Given the description of an element on the screen output the (x, y) to click on. 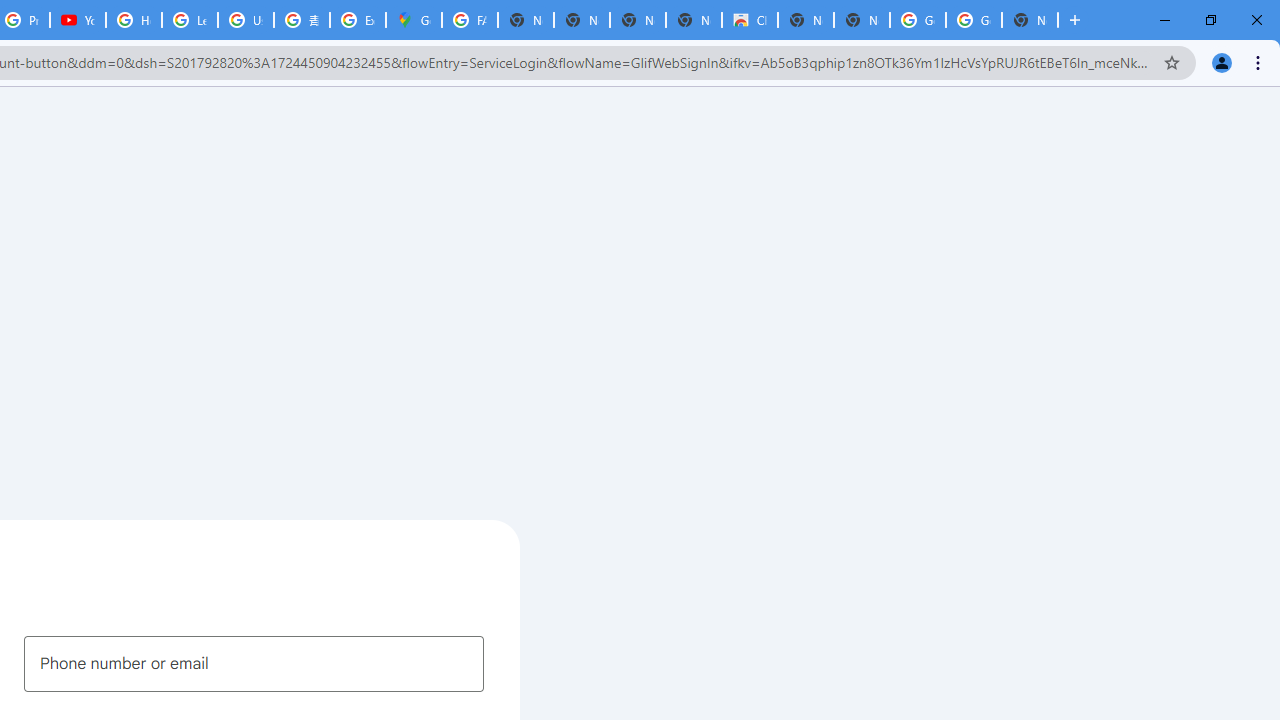
Google Images (917, 20)
Google Images (973, 20)
YouTube (77, 20)
Google Maps (413, 20)
Chrome Web Store (749, 20)
New Tab (1030, 20)
How Chrome protects your passwords - Google Chrome Help (134, 20)
